Given the description of an element on the screen output the (x, y) to click on. 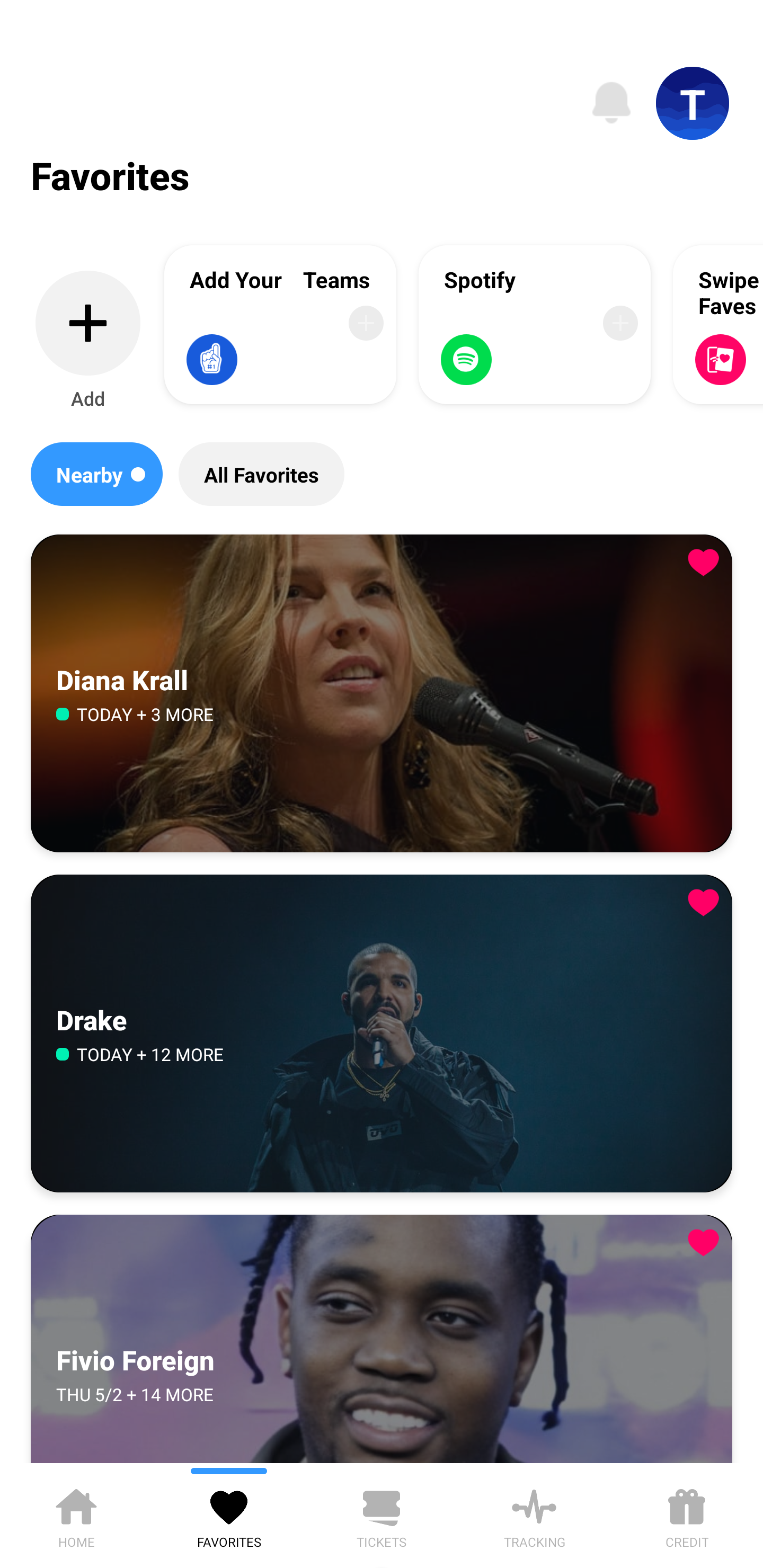
T (692, 103)
Add Your    Teams (279, 324)
Spotify (534, 324)
Add (87, 340)
Nearby (96, 474)
All Favorites (261, 474)
Drake, TODAY + 12 MORE  Drake TODAY + 12 MORE  (381, 1032)
HOME (76, 1515)
FAVORITES (228, 1515)
TICKETS (381, 1515)
TRACKING (533, 1515)
CREDIT (686, 1515)
